Given the description of an element on the screen output the (x, y) to click on. 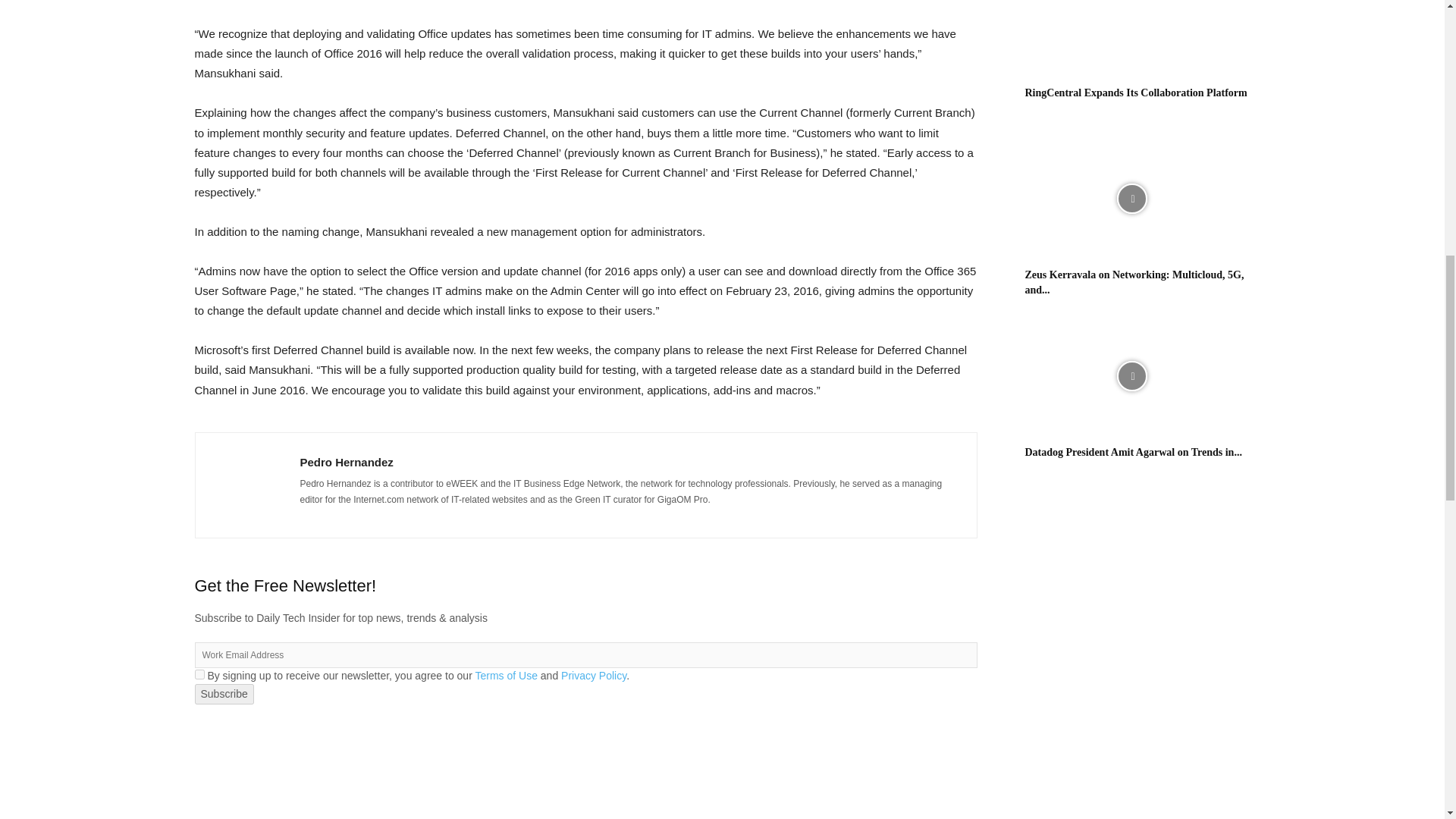
RingCentral Expands Its Collaboration Platform (1131, 38)
Zeus Kerravala on Networking: Multicloud, 5G, and Automation (1134, 282)
RingCentral Expands Its Collaboration Platform (1136, 92)
Zeus Kerravala on Networking: Multicloud, 5G, and Automation (1131, 198)
on (198, 674)
